Given the description of an element on the screen output the (x, y) to click on. 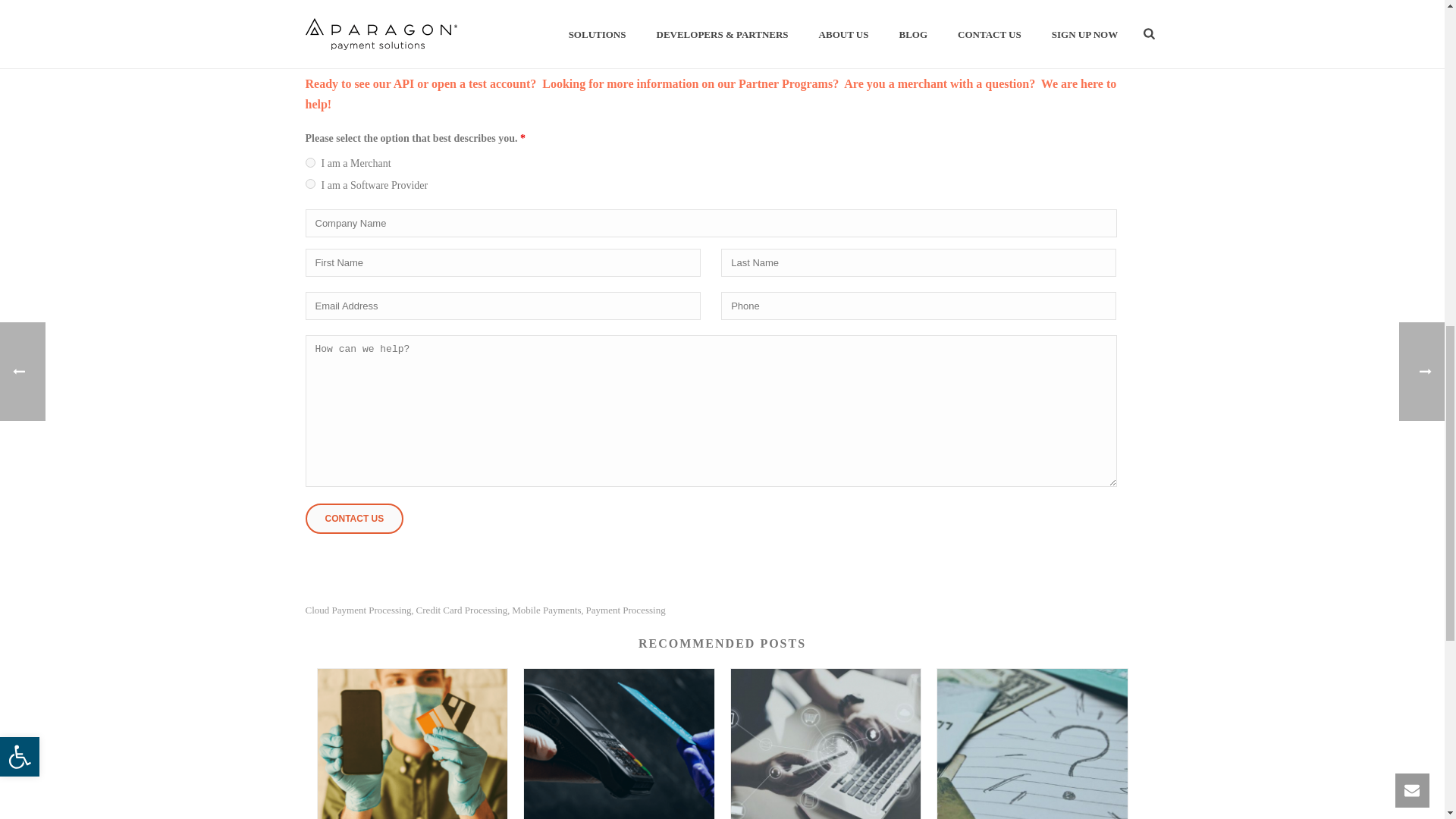
How to Optimize Credit Card Interchange Rates (1031, 744)
provider (309, 184)
Contactless Payments Covid Upgrade (411, 744)
Contactless Payments (619, 744)
How Payment Optimization Works (825, 744)
Contact Us (353, 518)
merchant (309, 162)
